Given the description of an element on the screen output the (x, y) to click on. 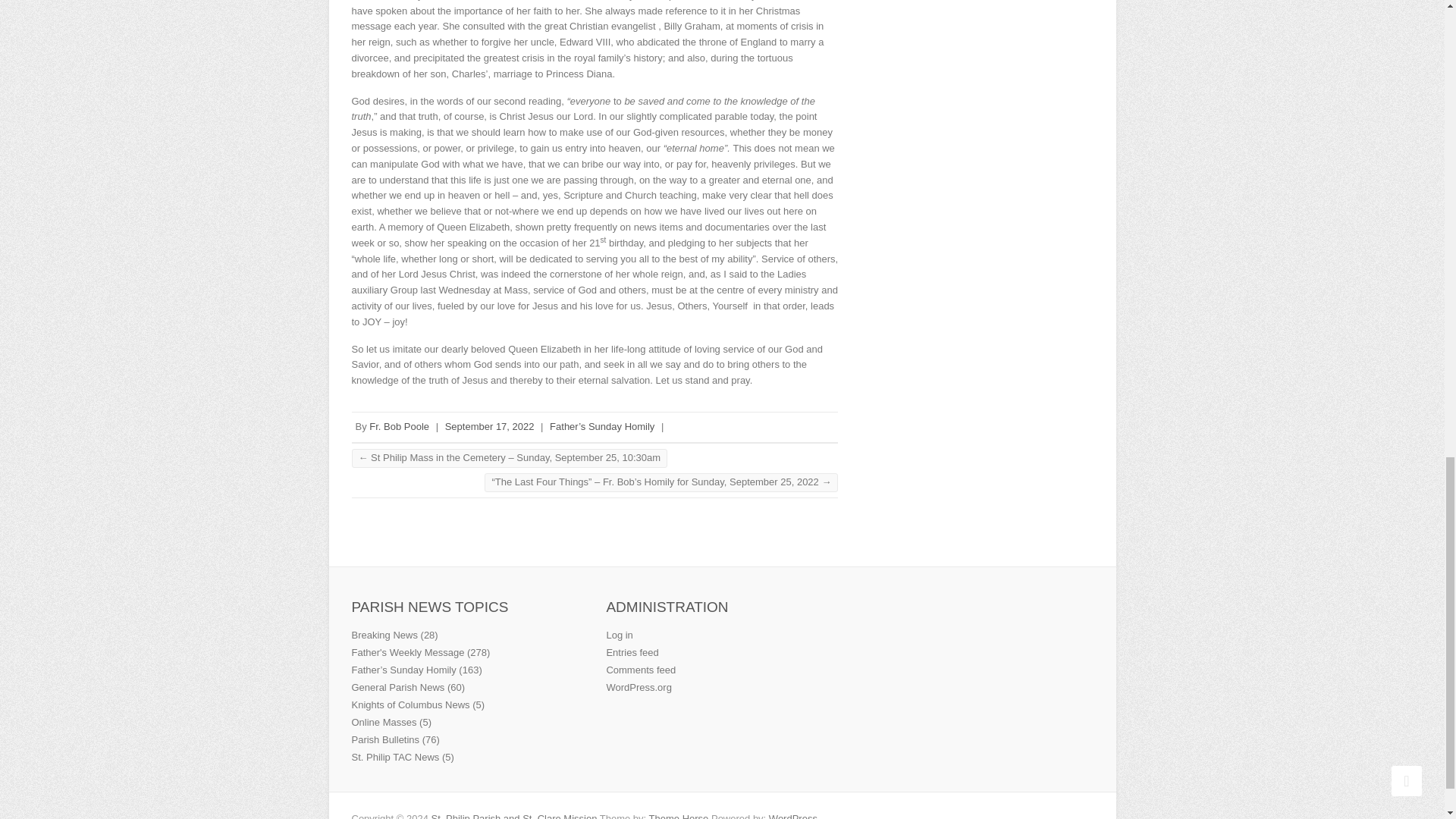
September 17, 2022 (489, 426)
5:30 pm (489, 426)
Fr. Bob Poole (399, 426)
